Given the description of an element on the screen output the (x, y) to click on. 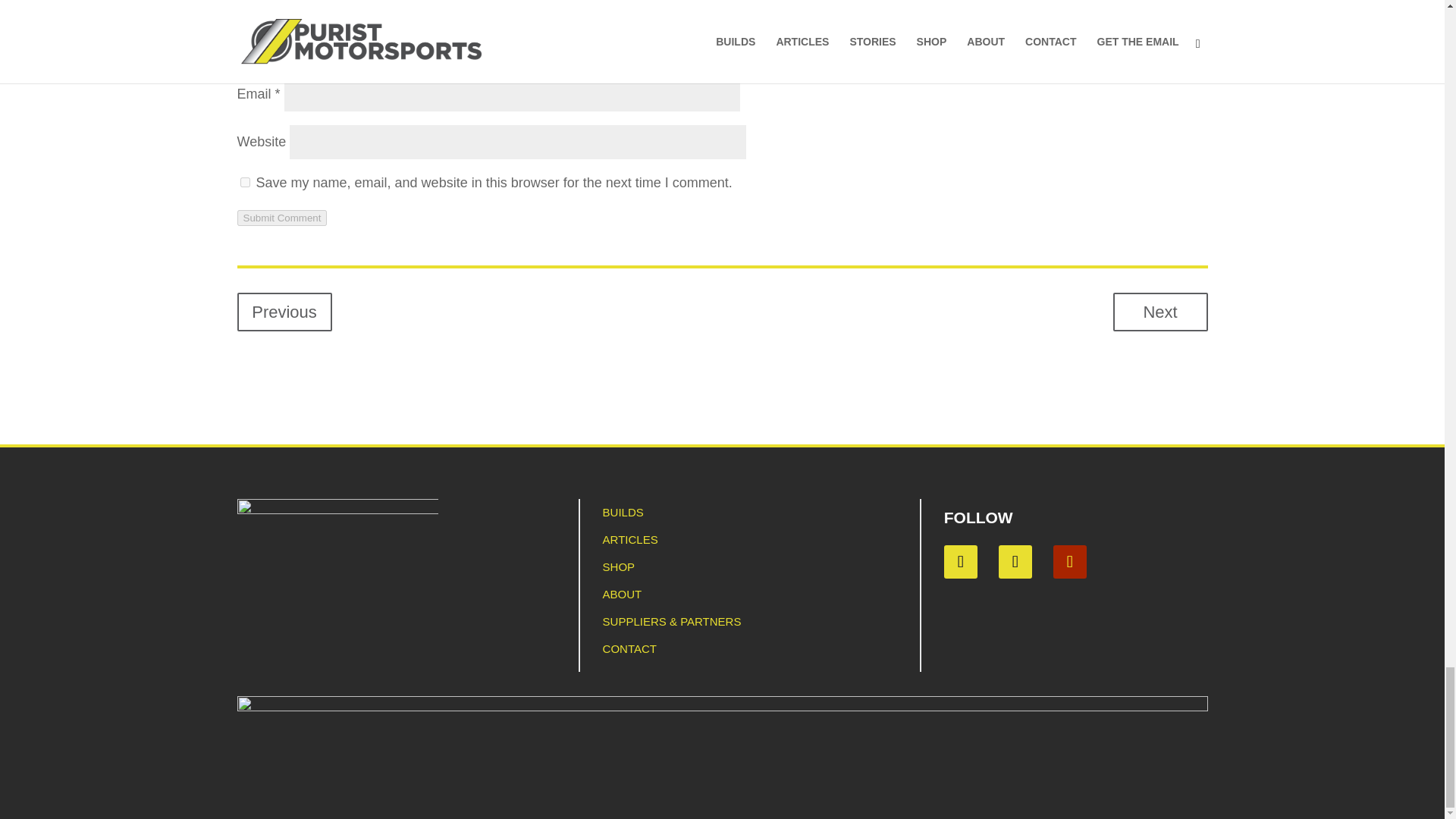
Follow on Instagram (1015, 561)
yes (244, 182)
CONTACT (629, 648)
Follow on Youtube (1069, 561)
Next (1160, 311)
Follow on Facebook (959, 561)
Submit Comment (280, 217)
BUILDS (622, 512)
ARTICLES (630, 539)
SHOP (618, 566)
Previous (283, 311)
ABOUT (622, 594)
